Given the description of an element on the screen output the (x, y) to click on. 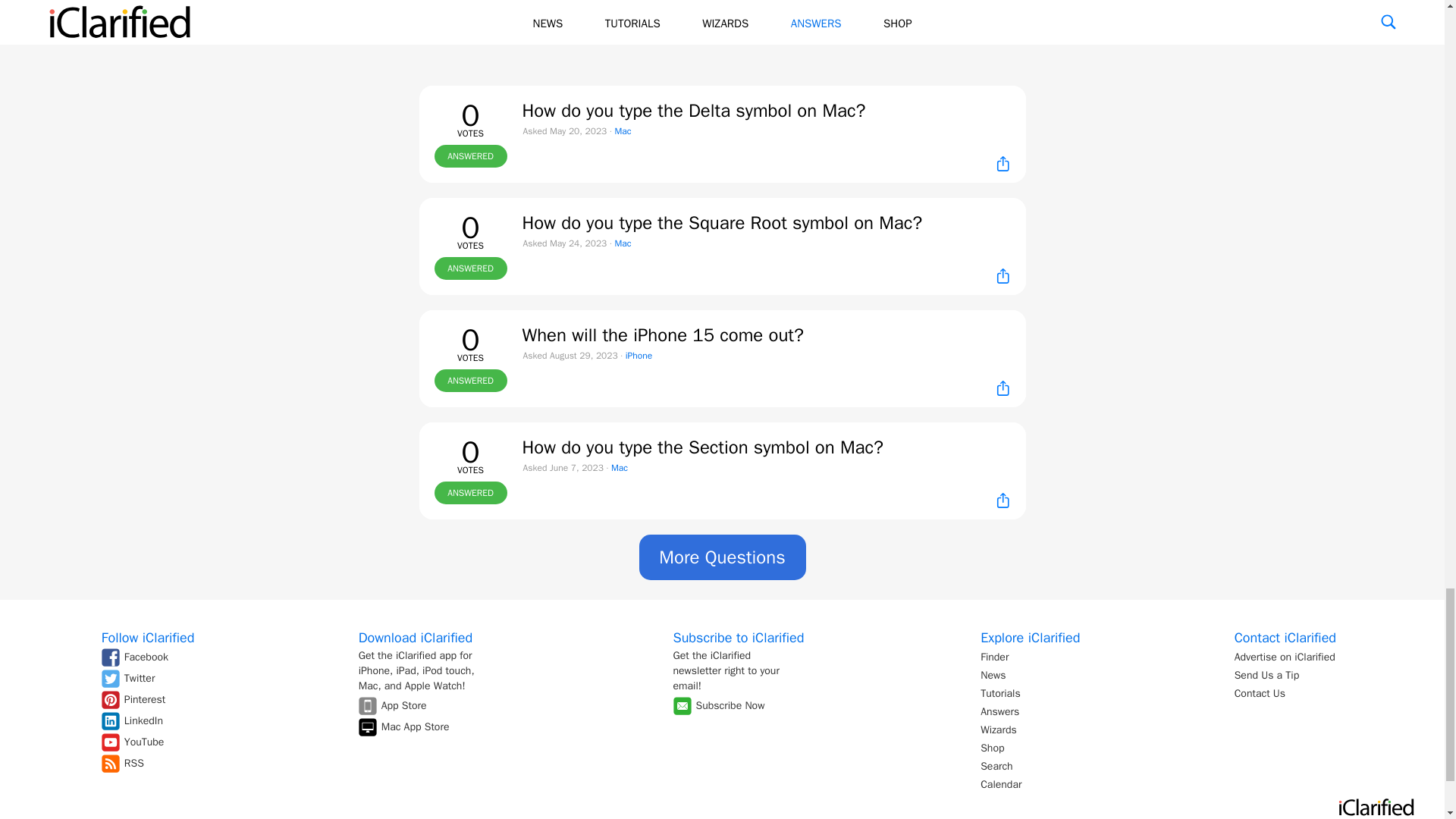
Mac (622, 243)
Mac (622, 131)
How do you type the Square Root symbol on Mac? (721, 222)
How do you type the Delta symbol on Mac? (692, 110)
